Given the description of an element on the screen output the (x, y) to click on. 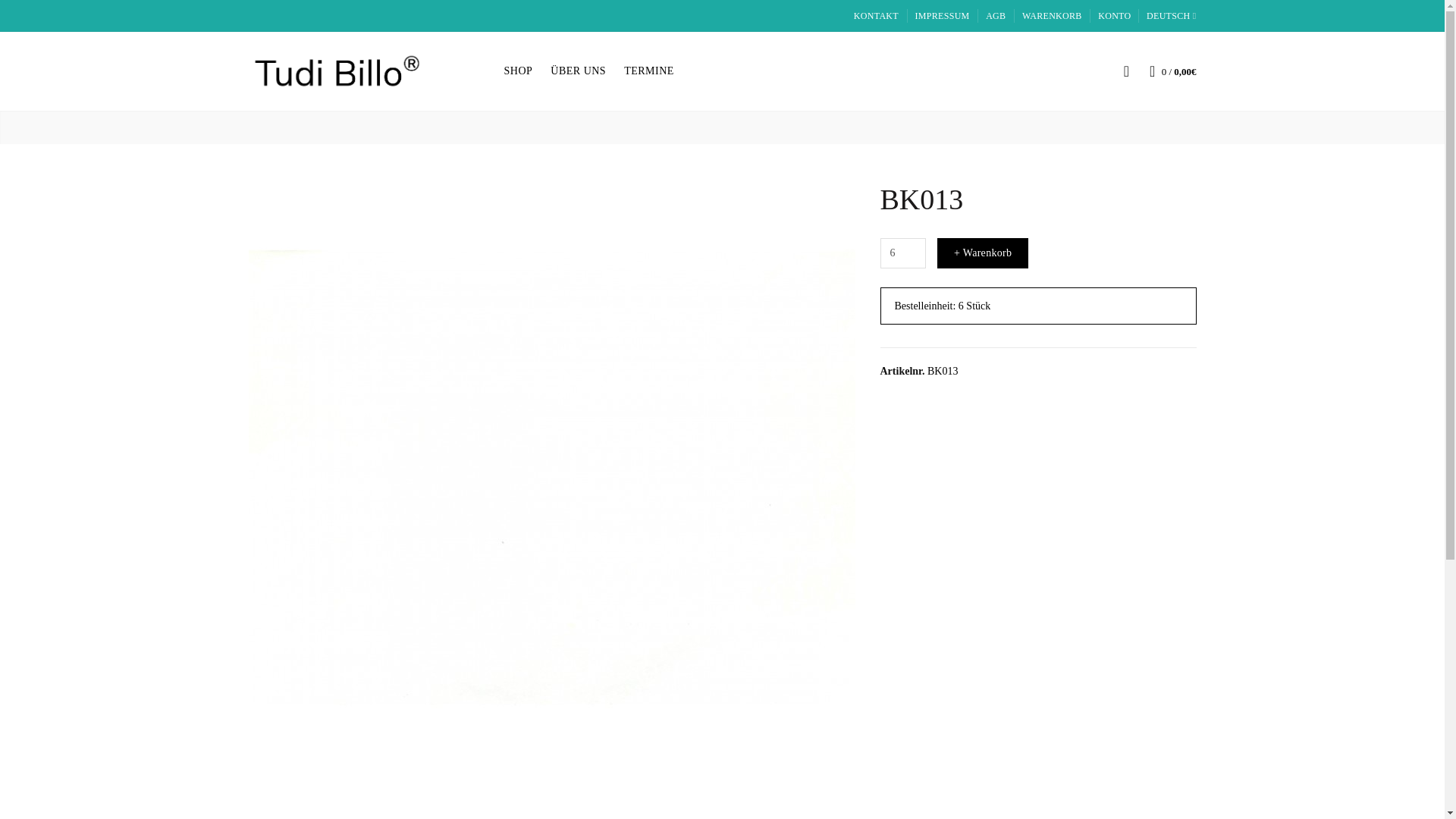
KONTO (1114, 16)
KONTAKT (875, 16)
6 (901, 253)
SHOP (518, 71)
WARENKORB (1051, 16)
IMPRESSUM (942, 16)
AGB (995, 16)
DEUTSCH (1169, 16)
TERMINE (648, 71)
